Given the description of an element on the screen output the (x, y) to click on. 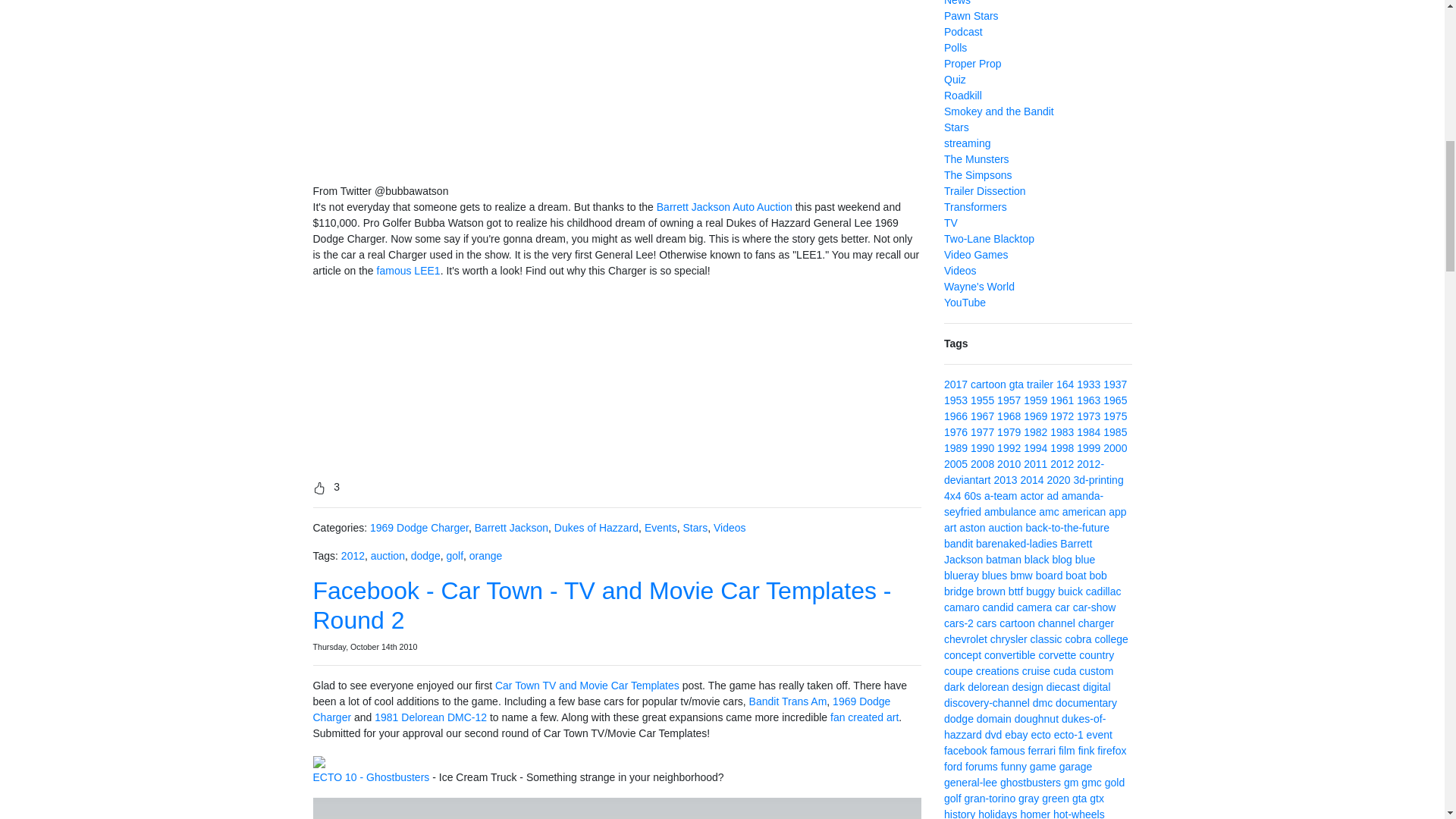
Bandit Trans Am (788, 701)
1981 Delorean DMC-12 (430, 717)
Car Town TV and Movie Car Templates (587, 685)
orange (485, 555)
Facebook - Car Town - TV and Movie Car Templates - Round 2 (602, 605)
Events (661, 527)
1969 Dodge Charger (601, 709)
Dukes of Hazzard (596, 527)
ECTO 10 - Ghostbusters (372, 776)
Barrett Jackson (511, 527)
dodge (425, 555)
fan created art (863, 717)
1969 Dodge Charger (418, 527)
golf (454, 555)
Stars (694, 527)
